Given the description of an element on the screen output the (x, y) to click on. 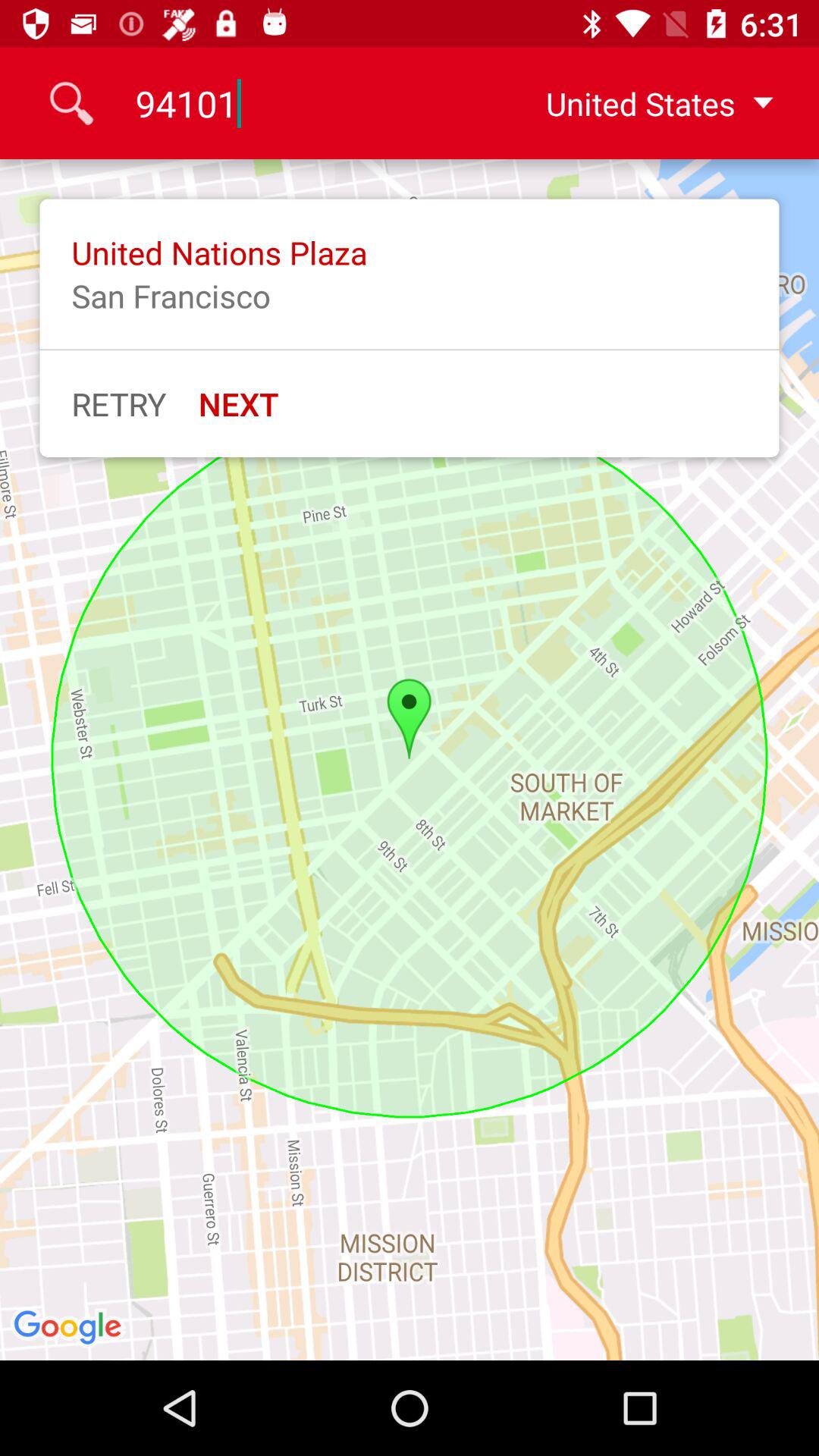
select the item at the center (409, 759)
